Given the description of an element on the screen output the (x, y) to click on. 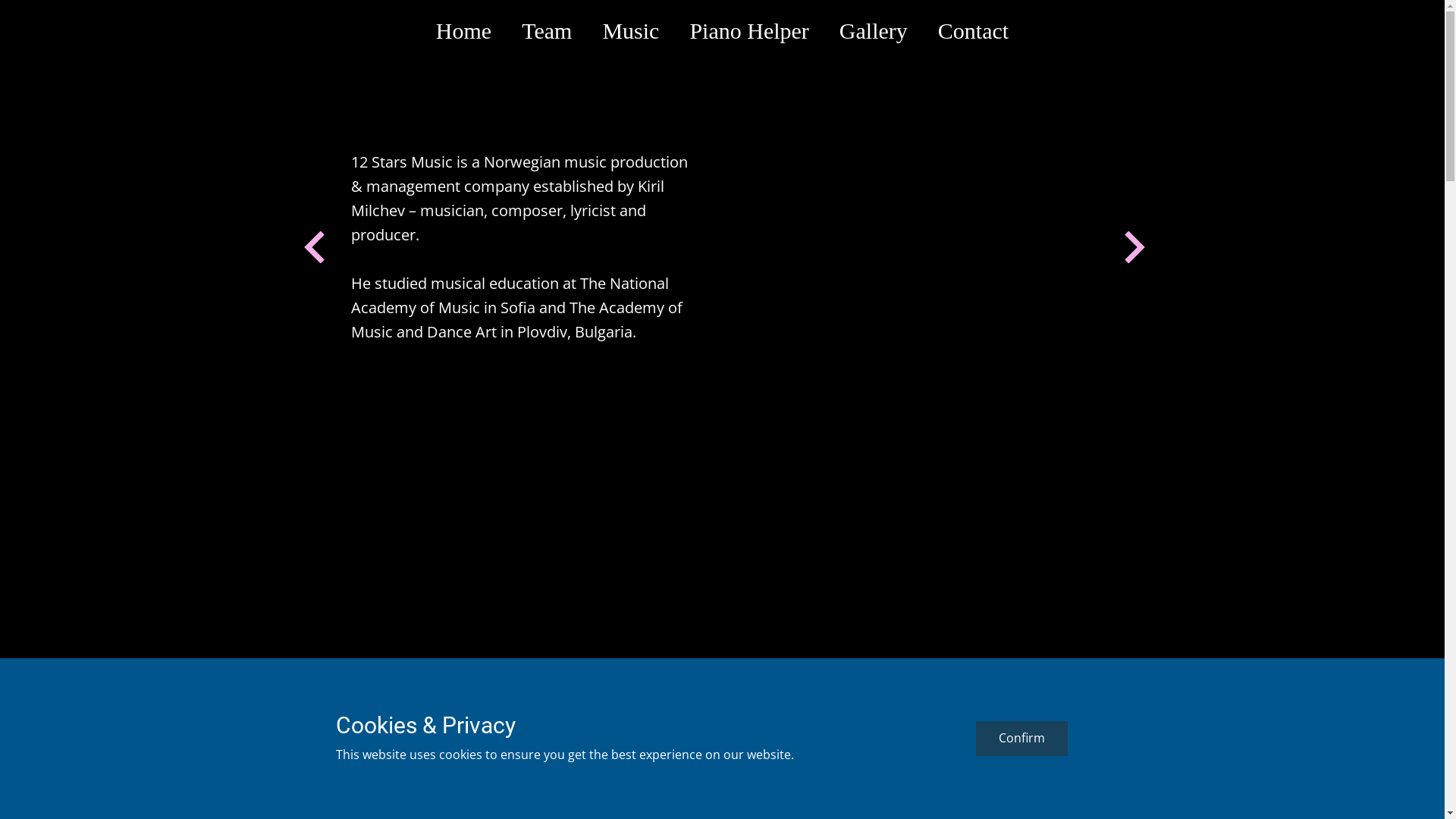
Music Element type: text (630, 31)
Home Element type: text (463, 31)
Confirm Element type: text (1020, 738)
Gallery Element type: text (873, 31)
Team Element type: text (546, 31)
Contact Element type: text (972, 31)
Piano Helper Element type: text (748, 31)
